Given the description of an element on the screen output the (x, y) to click on. 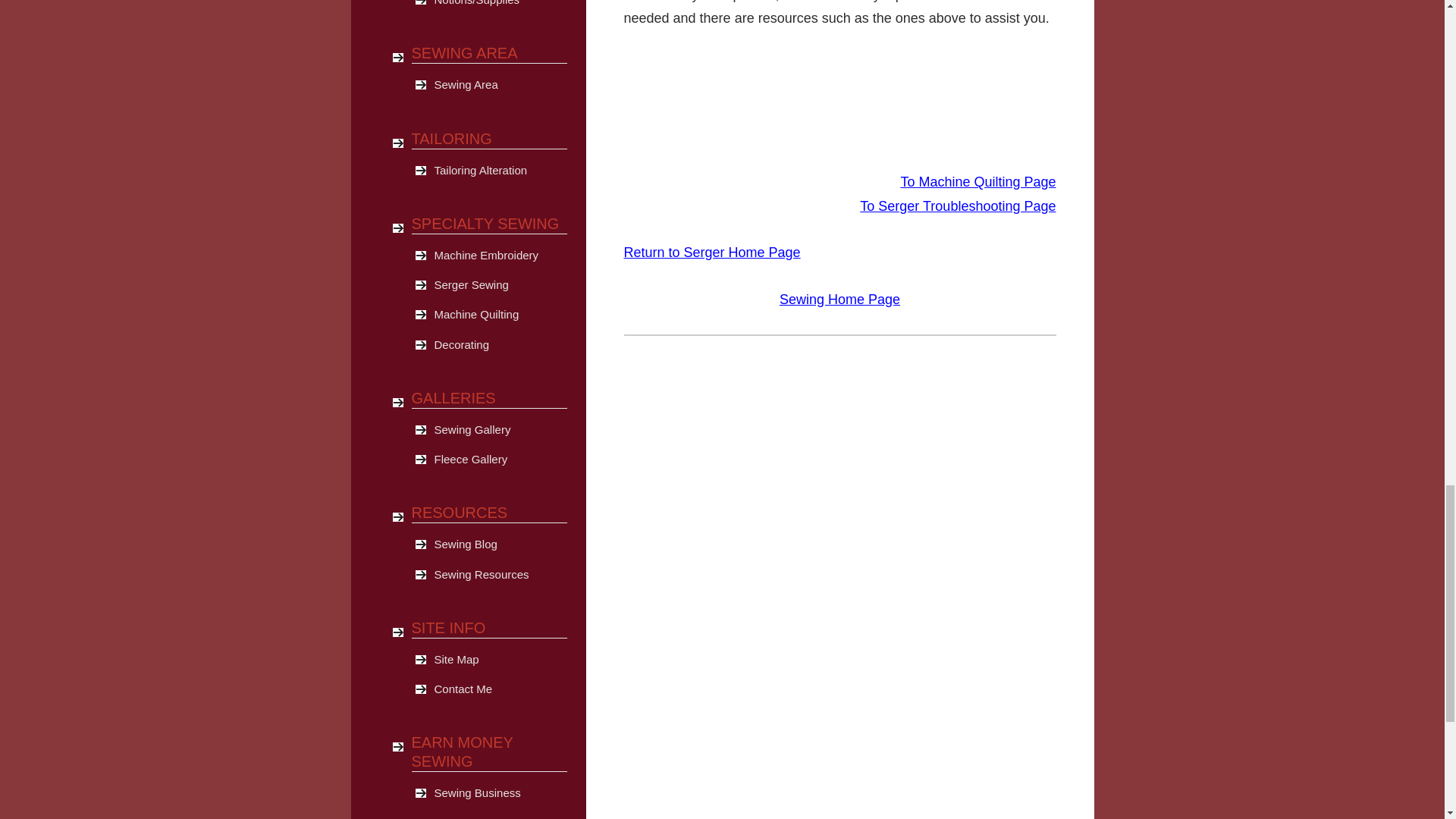
Tailoring Alteration (499, 169)
Sewing Area (499, 84)
Machine Embroidery (499, 255)
